Given the description of an element on the screen output the (x, y) to click on. 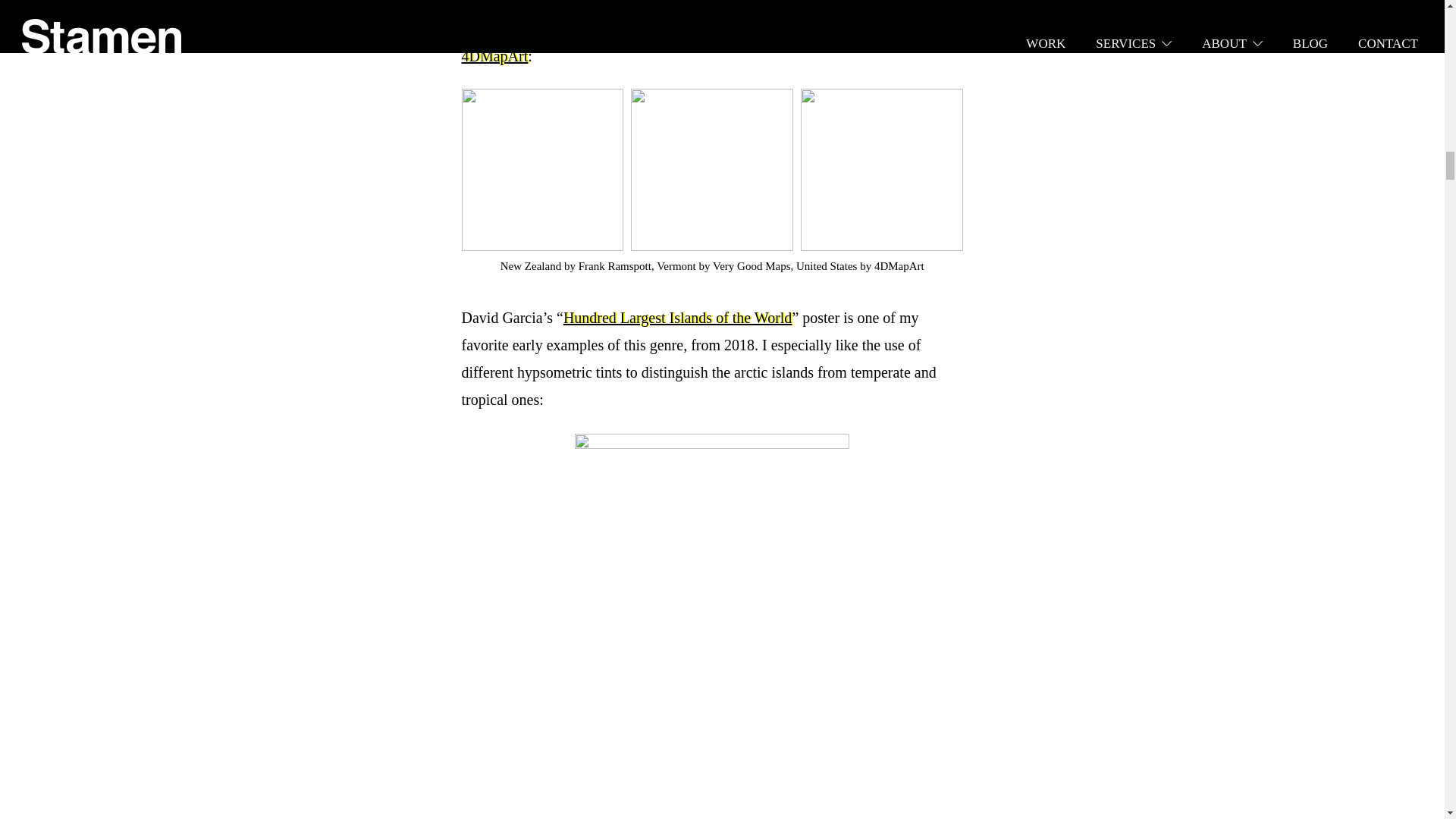
4DMapArt (494, 55)
United States (826, 265)
Vermont (675, 265)
Hundred Largest Islands of the World (677, 317)
Very Good Maps (801, 4)
New Zealand (530, 265)
